Given the description of an element on the screen output the (x, y) to click on. 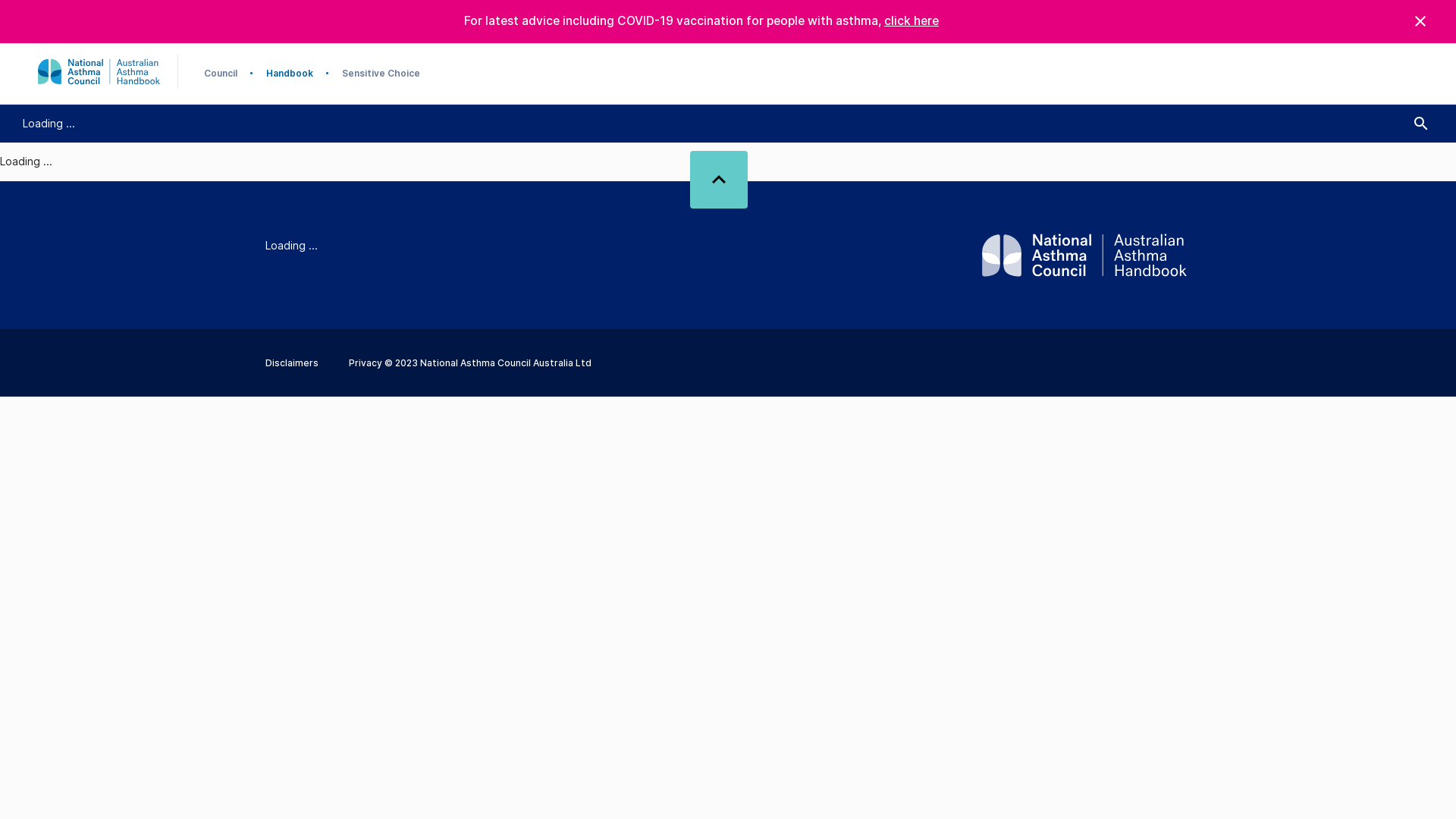
Disclaimers Element type: text (291, 362)
Privacy Element type: text (365, 362)
Sensitive Choice Element type: text (381, 72)
click here Element type: text (911, 20)
Council Element type: text (220, 72)
Handbook Element type: text (289, 72)
